Given the description of an element on the screen output the (x, y) to click on. 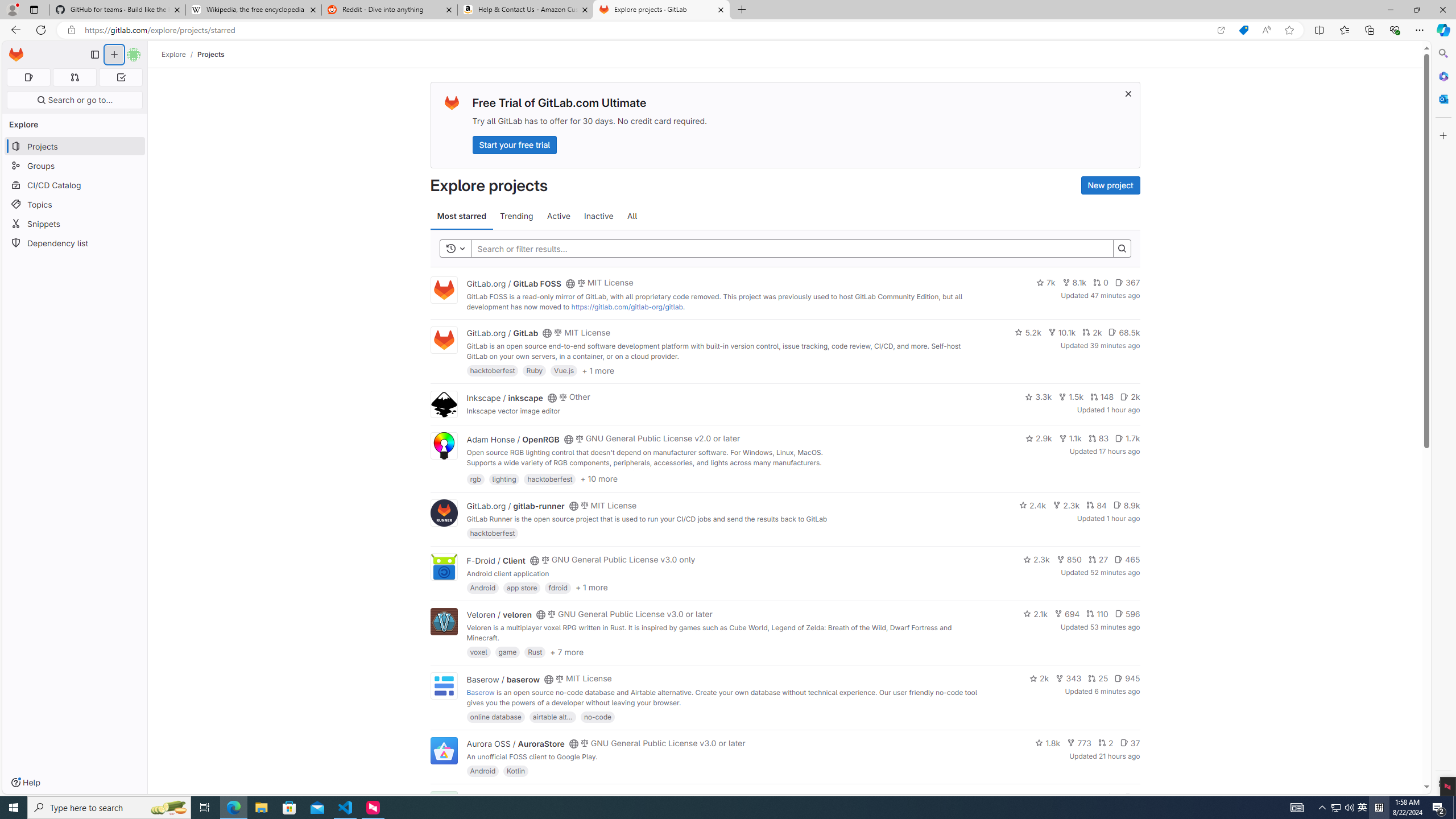
945 (1127, 678)
Aurora OSS / AuroraStore (514, 743)
fdroid (558, 587)
68.5k (1124, 331)
Groups (74, 165)
All (632, 216)
voxel (478, 651)
Android (482, 770)
143 (1085, 797)
Class: s16 gl-icon gl-button-icon  (1127, 93)
online database (495, 715)
148 (1101, 396)
+ 1 more (591, 587)
